Given the description of an element on the screen output the (x, y) to click on. 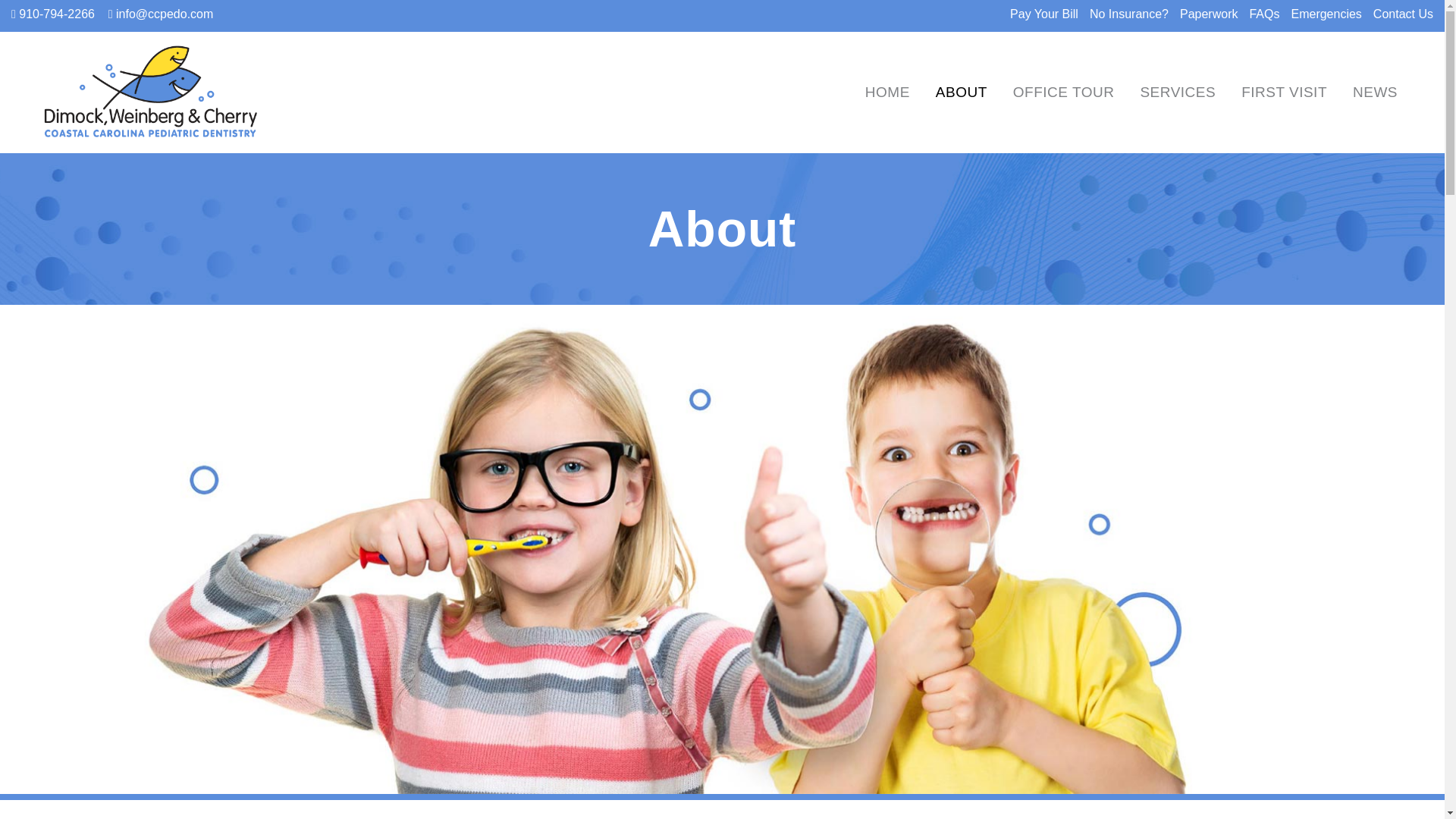
FAQs (1258, 14)
Emergencies (1320, 14)
FIRST VISIT (1283, 92)
Contact Us (1396, 14)
OFFICE TOUR (1063, 92)
No Insurance? (1123, 14)
Pay Your Bill (1038, 14)
Paperwork (1203, 14)
